Given the description of an element on the screen output the (x, y) to click on. 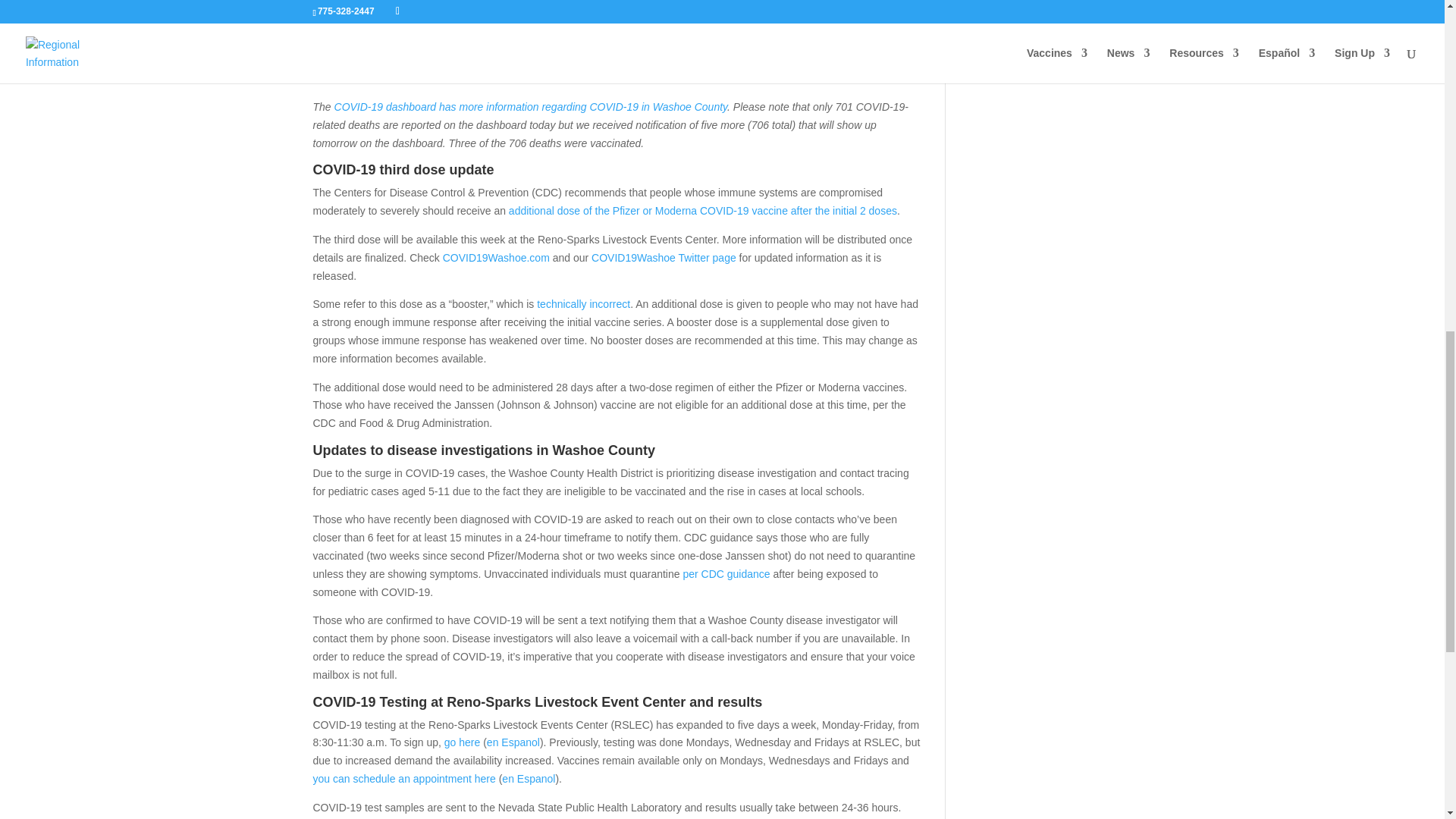
go here (462, 742)
you can schedule an appointment here (404, 778)
en Espanol (513, 742)
per CDC guidance (726, 573)
technically incorrect (583, 304)
COVID19Washoe.com (496, 257)
Truckee Meadows COVID Risk Meter (462, 51)
COVID19Washoe Twitter page (663, 257)
